Given the description of an element on the screen output the (x, y) to click on. 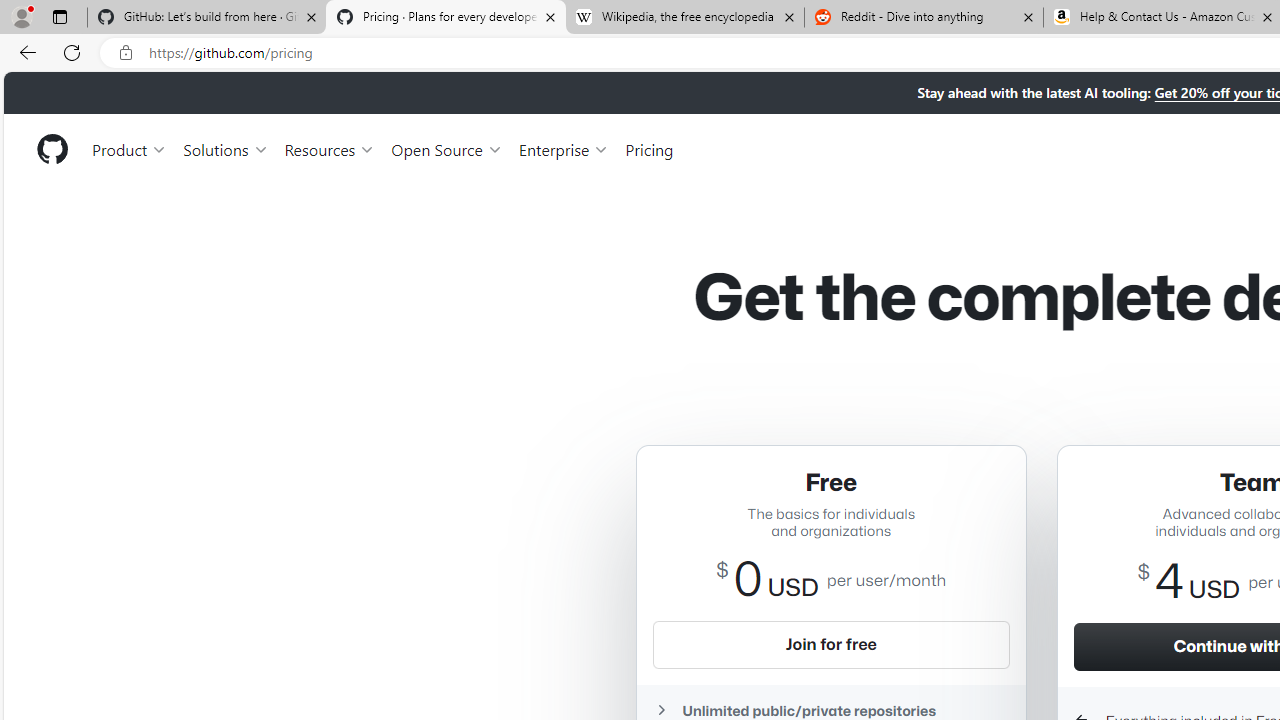
Product (130, 148)
Wikipedia, the free encyclopedia (684, 17)
Enterprise (563, 148)
Product (130, 148)
Solutions (225, 148)
